Given the description of an element on the screen output the (x, y) to click on. 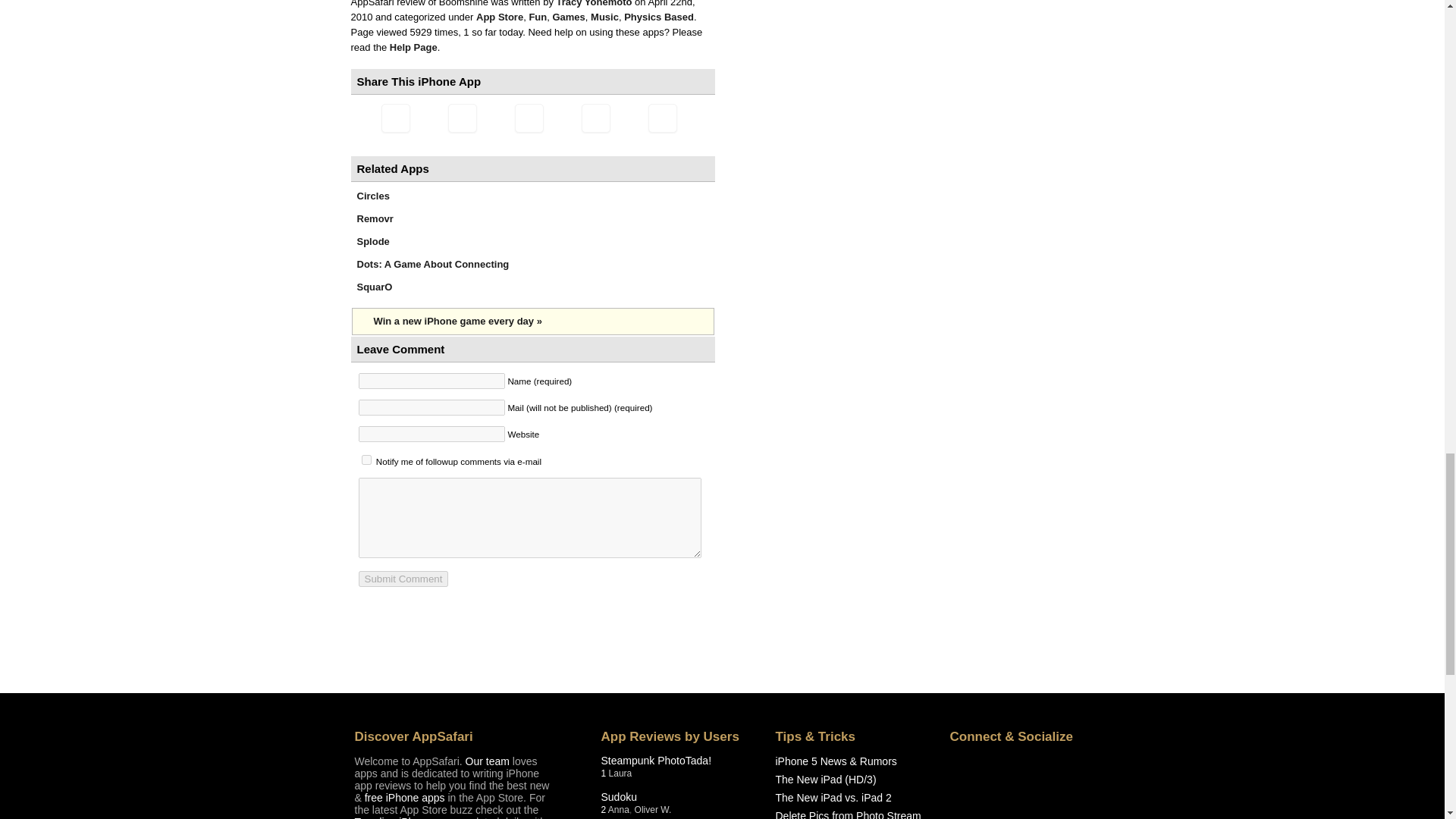
Splode (372, 241)
Tracy Yonemoto (595, 3)
Facebook (528, 118)
Facebook (528, 118)
Removr (374, 218)
Submit Comment (403, 578)
Email this app to a friend! (394, 118)
SquarO (373, 286)
Fun (537, 16)
App Store (499, 16)
